Given the description of an element on the screen output the (x, y) to click on. 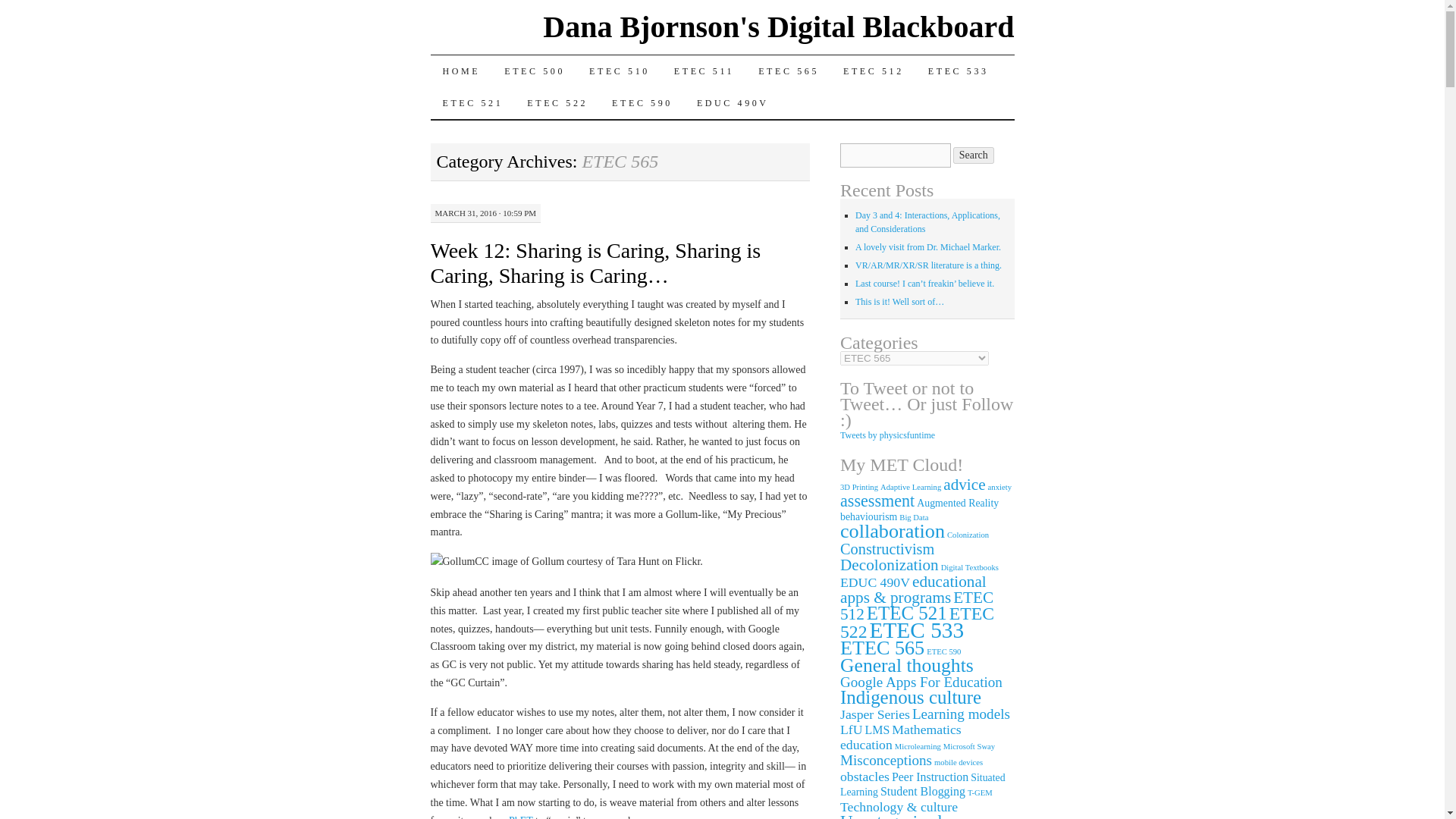
ETEC 590 (641, 102)
ETEC 522 (557, 102)
ETEC 500 (534, 70)
ETEC 521 (472, 102)
HOME (461, 70)
ETEC 511 (703, 70)
ETEC 510 (619, 70)
PhET (518, 816)
Search (973, 155)
ETEC 565 (788, 70)
ETEC 533 (958, 70)
Dana Bjornson's Digital Blackboard (778, 26)
Dana Bjornson's Digital Blackboard (778, 26)
EDUC 490V (732, 102)
Gollum (453, 561)
